Given the description of an element on the screen output the (x, y) to click on. 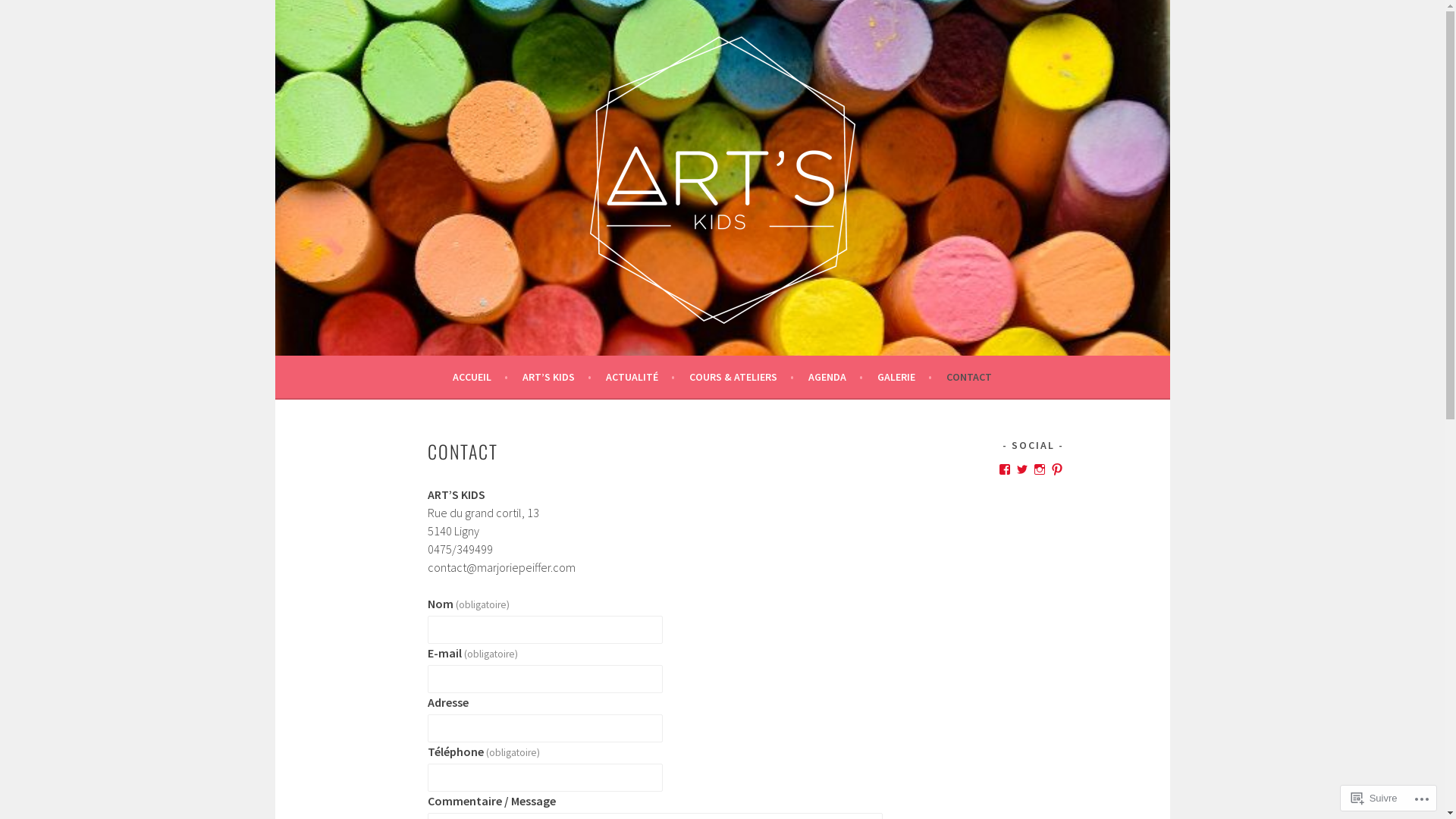
ACCUEIL Element type: text (480, 376)
CONTACT Element type: text (968, 376)
ART'S KIDS Element type: text (375, 364)
AGENDA Element type: text (835, 376)
Suivre Element type: text (1374, 797)
GALERIE Element type: text (904, 376)
COURS & ATELIERS Element type: text (741, 376)
